Given the description of an element on the screen output the (x, y) to click on. 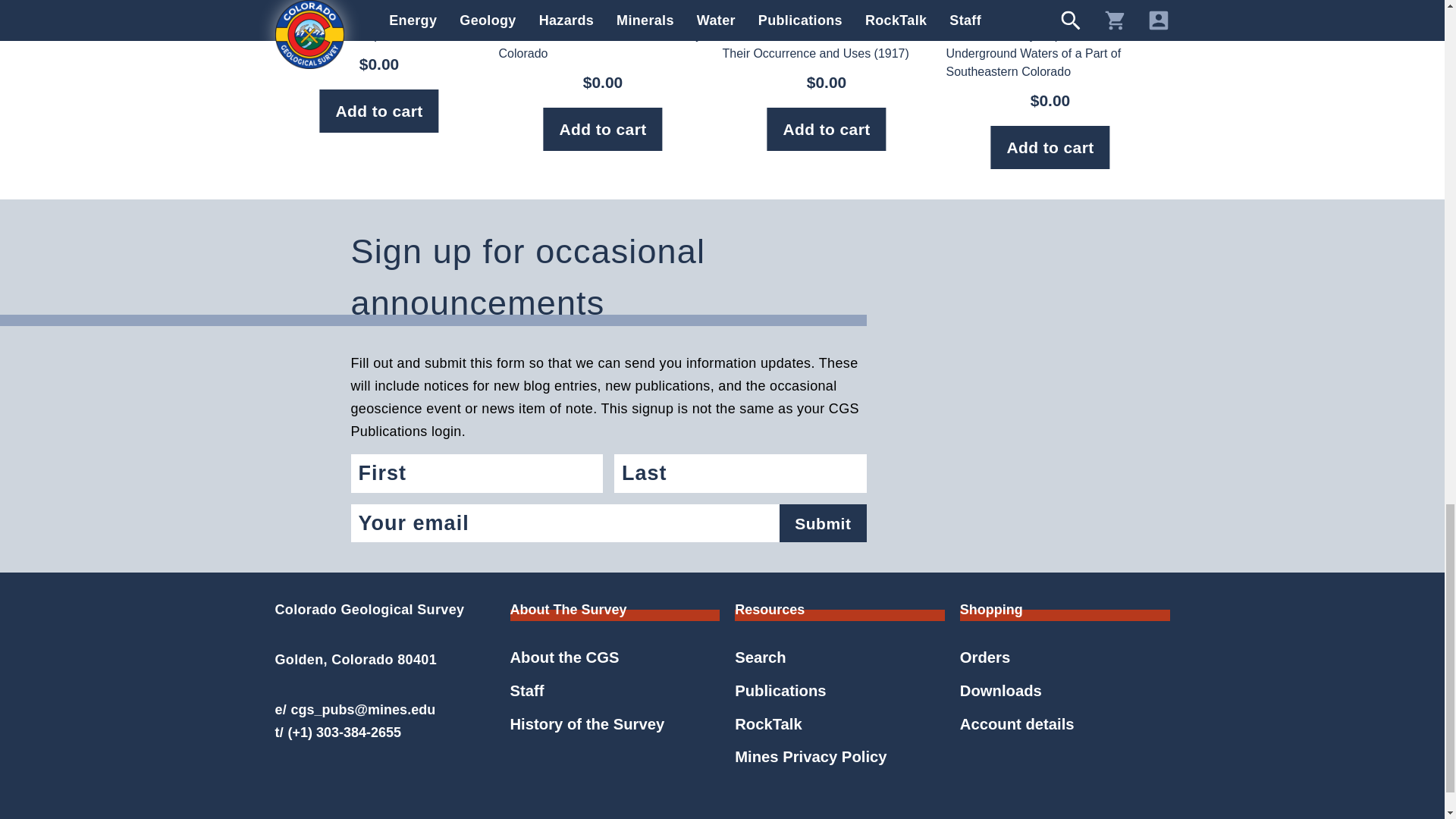
Submit (822, 523)
